Given the description of an element on the screen output the (x, y) to click on. 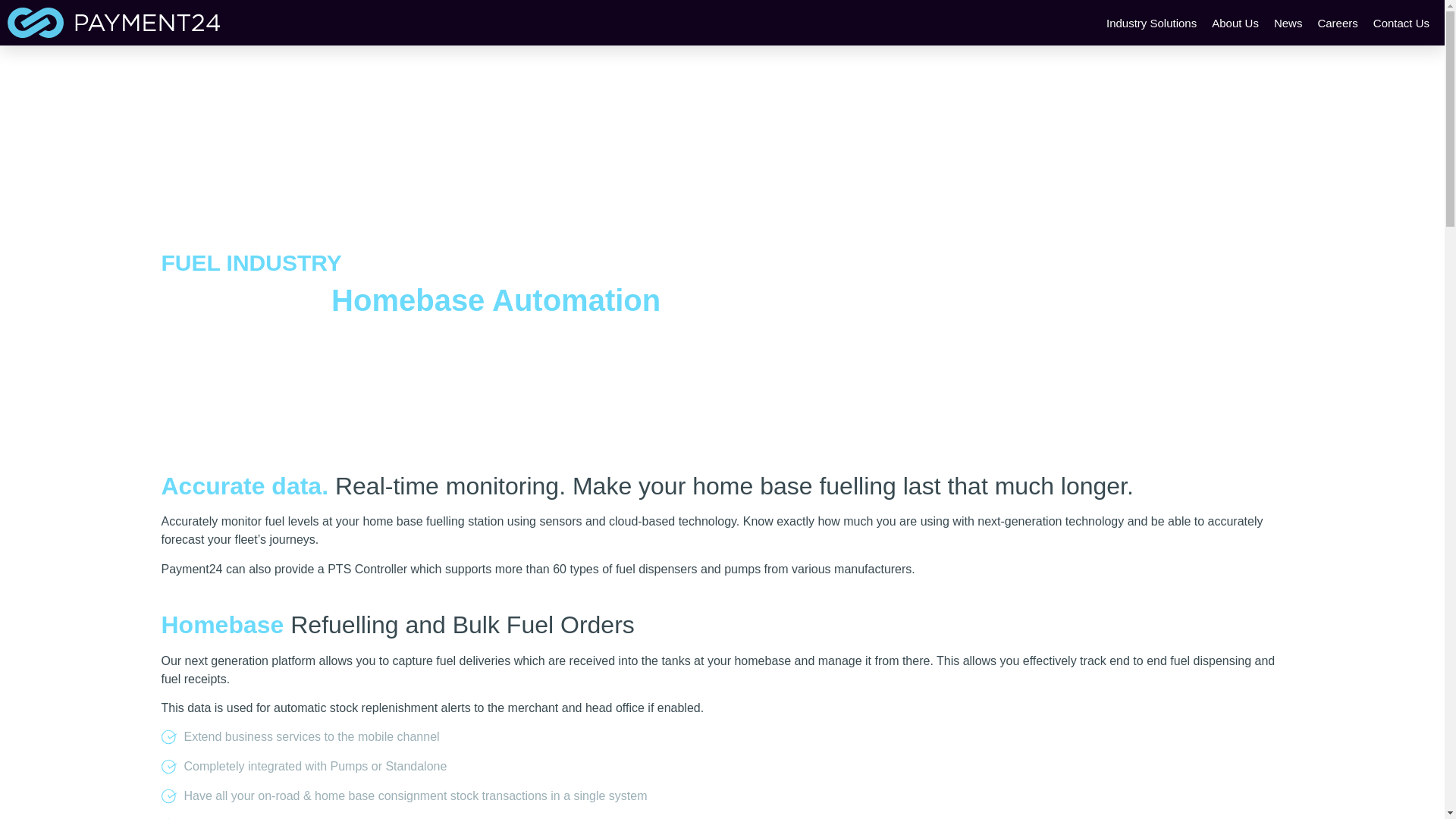
About Us (1235, 22)
Contact Us (1401, 22)
Careers (1336, 22)
Industry Solutions (1151, 22)
